Given the description of an element on the screen output the (x, y) to click on. 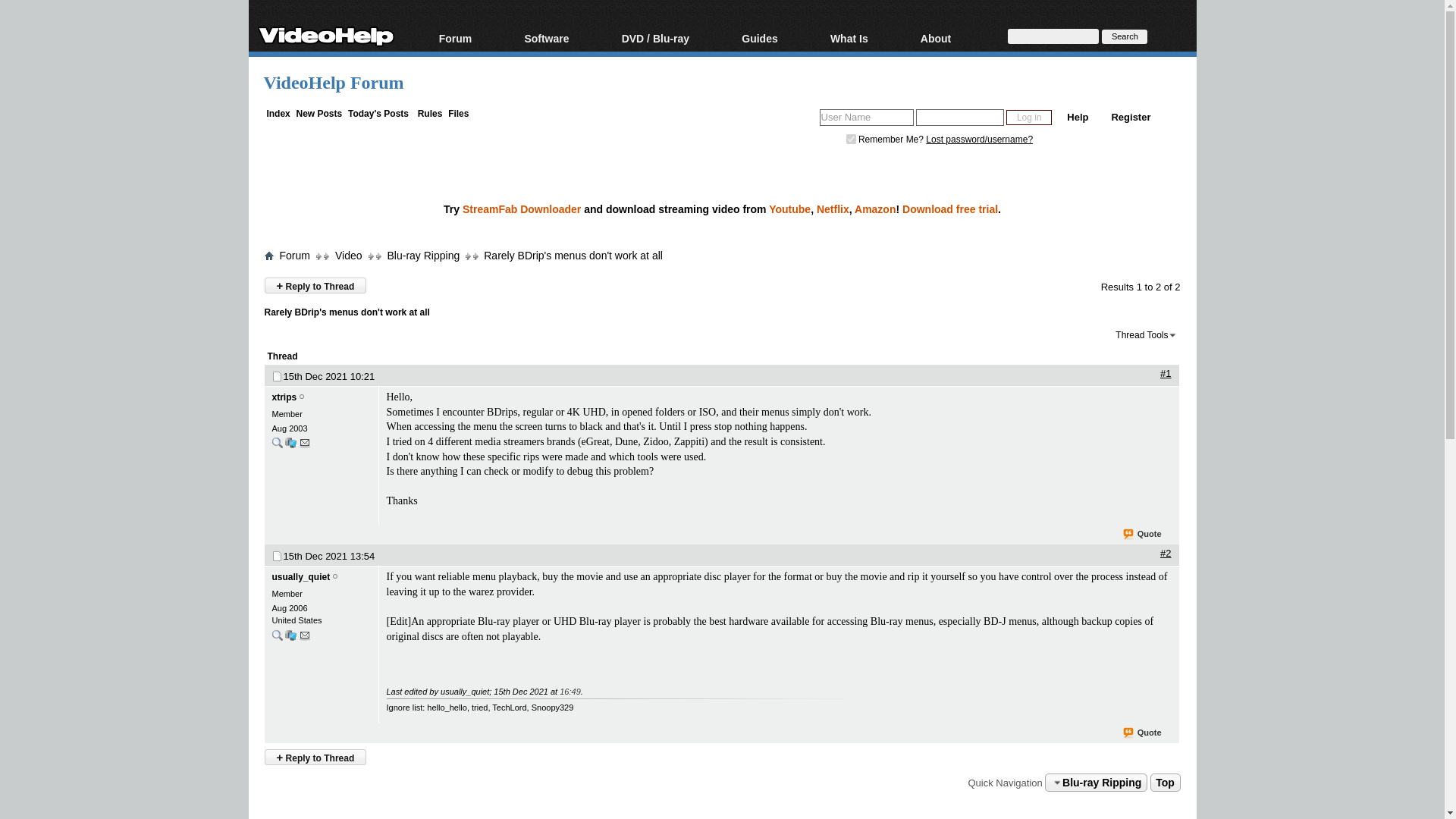
Quote (1130, 534)
Search (1124, 35)
Rules (429, 113)
Users posts: 35 (276, 442)
Files (458, 113)
Forum (473, 40)
What Is (867, 40)
Log in (1028, 117)
Guides (777, 40)
Users posts: 14,049 (276, 634)
PM (304, 441)
User Name (866, 117)
xtrips is offline (283, 397)
Software (564, 40)
